Given the description of an element on the screen output the (x, y) to click on. 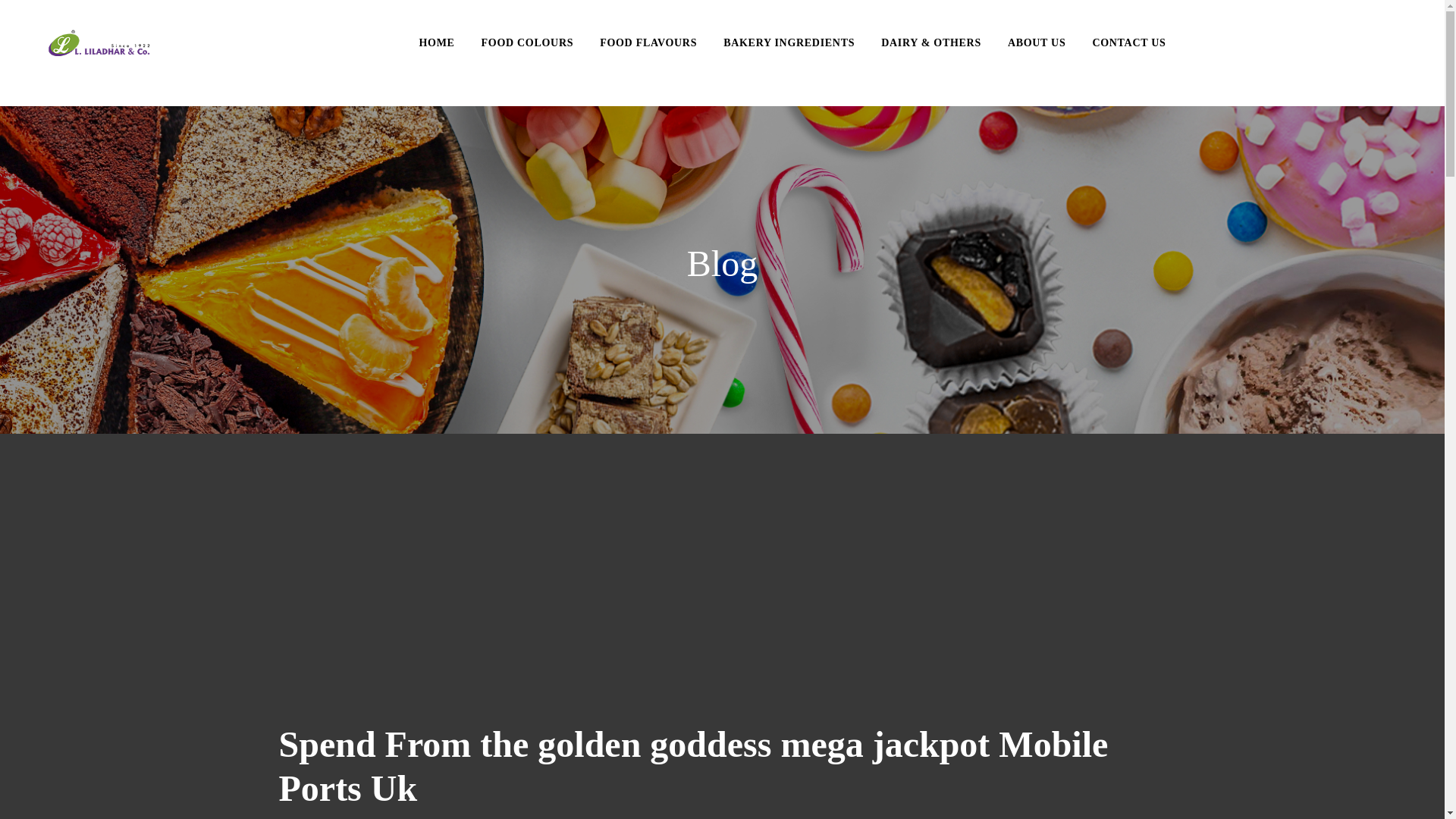
BAKERY INGREDIENTS (788, 42)
CONTACT US (1129, 42)
ABOUT US (1036, 42)
FOOD FLAVOURS (648, 42)
FOOD COLOURS (527, 42)
Liladhar- (98, 42)
HOME (436, 42)
